Given the description of an element on the screen output the (x, y) to click on. 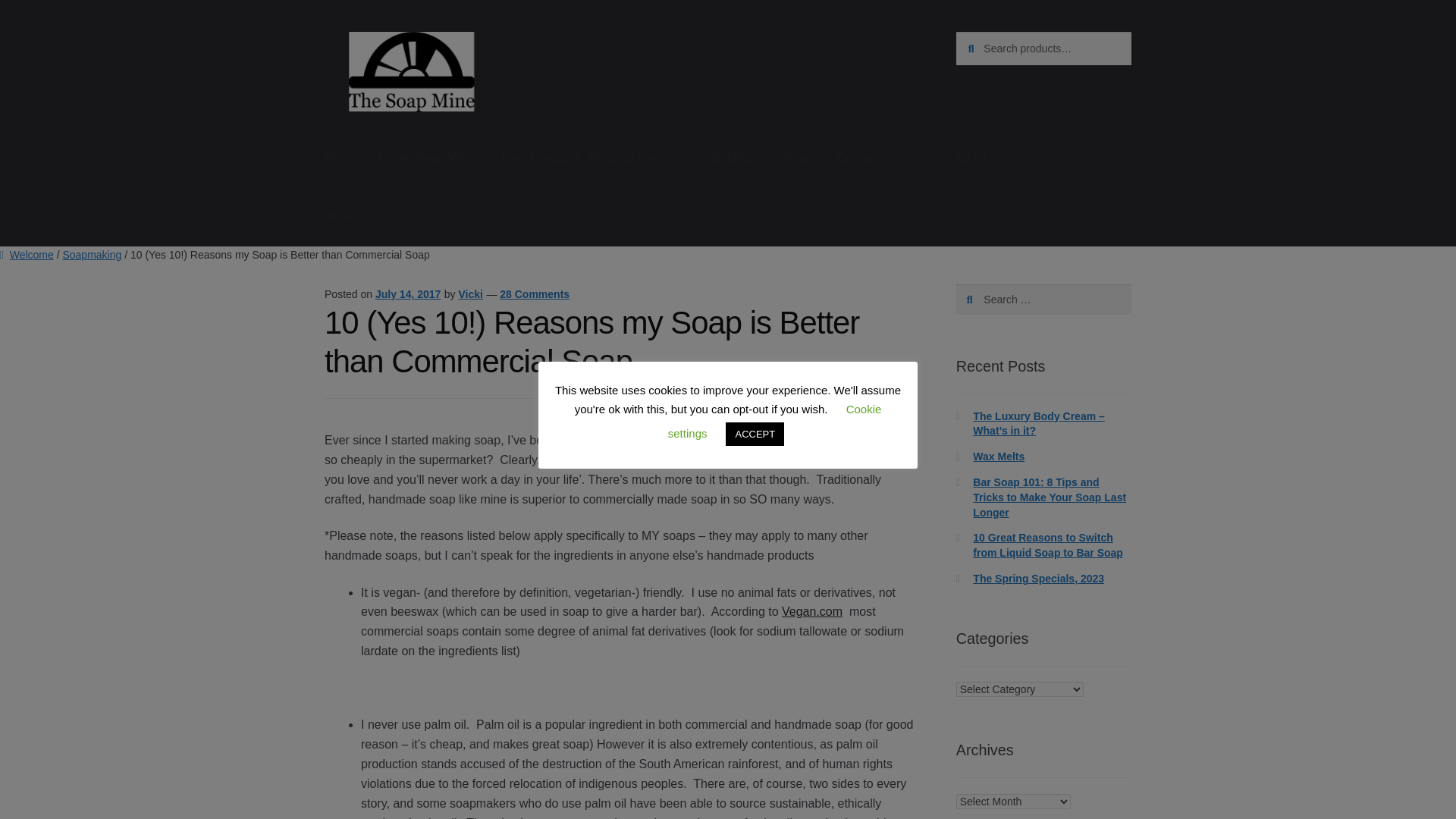
July 14, 2017 (408, 294)
Welcome to The Soap Mine (399, 157)
28 Comments (534, 294)
Welcome (26, 254)
View your shopping basket (1043, 157)
Stockists (733, 157)
Vegan.com (812, 611)
